Given the description of an element on the screen output the (x, y) to click on. 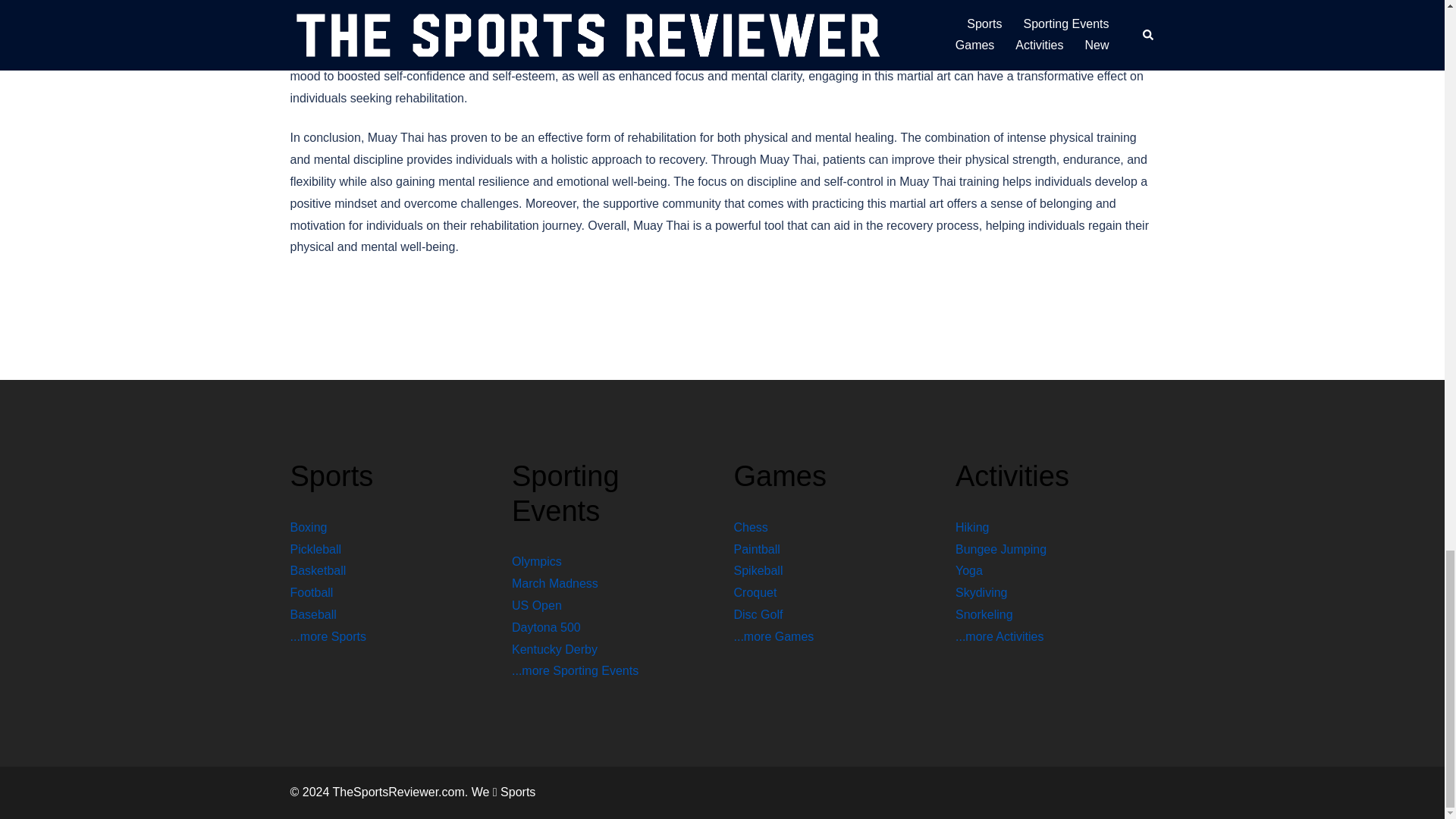
Boxing (307, 526)
Baseball (312, 614)
...more Sports (327, 635)
US Open (537, 604)
Yoga (968, 570)
Bungee Jumping (1000, 549)
...more Sporting Events (575, 670)
Daytona 500 (546, 626)
Disc Golf (758, 614)
...more Activities (999, 635)
Skydiving (981, 592)
Basketball (317, 570)
March Madness (555, 583)
Kentucky Derby (554, 649)
Olympics (537, 561)
